Given the description of an element on the screen output the (x, y) to click on. 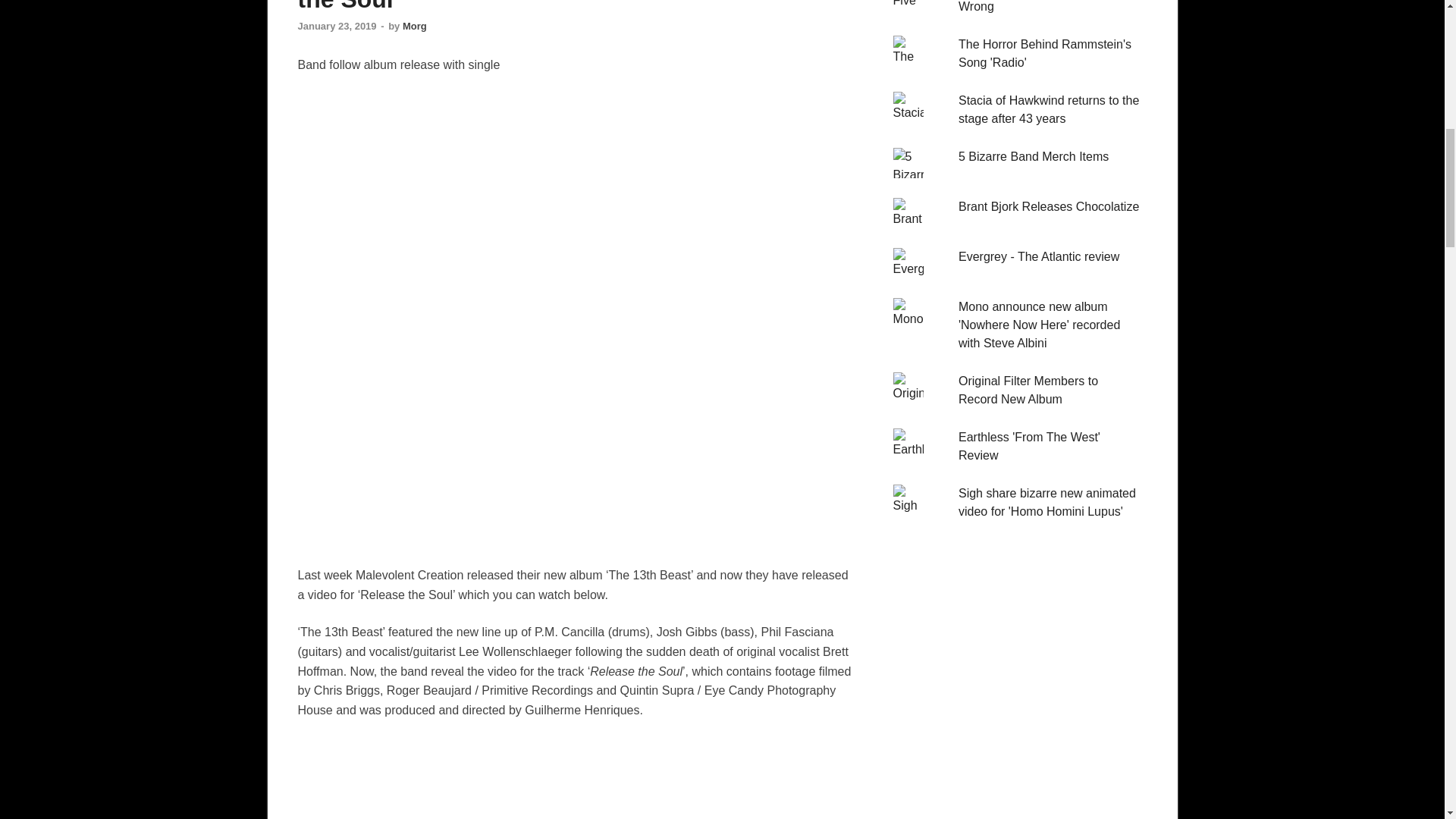
Morg (414, 25)
Five Times Fire and Metal Went Wrong (1043, 6)
Stacia of Hawkwind returns to the stage after 43 years (1048, 109)
Stacia of Hawkwind returns to the stage after 43 years (1048, 109)
The Horror Behind Rammstein's Song 'Radio' (1044, 52)
January 23, 2019 (336, 25)
The Horror Behind Rammstein's Song 'Radio' (1044, 52)
Five Times Fire and Metal Went Wrong (1043, 6)
5 Bizarre Band Merch Items (1033, 155)
